Given the description of an element on the screen output the (x, y) to click on. 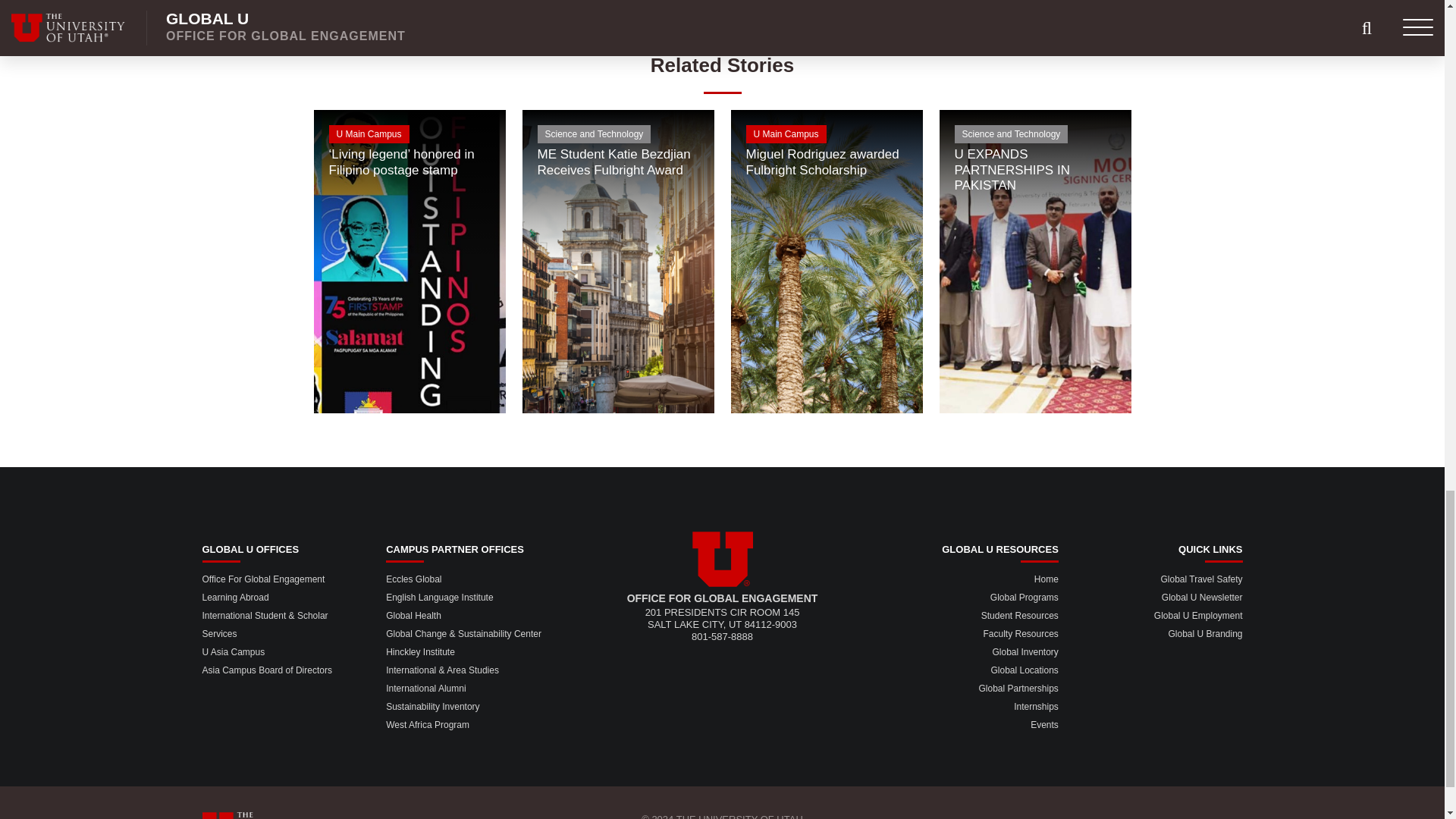
University of Utah (721, 559)
U Main Campus (409, 136)
